Given the description of an element on the screen output the (x, y) to click on. 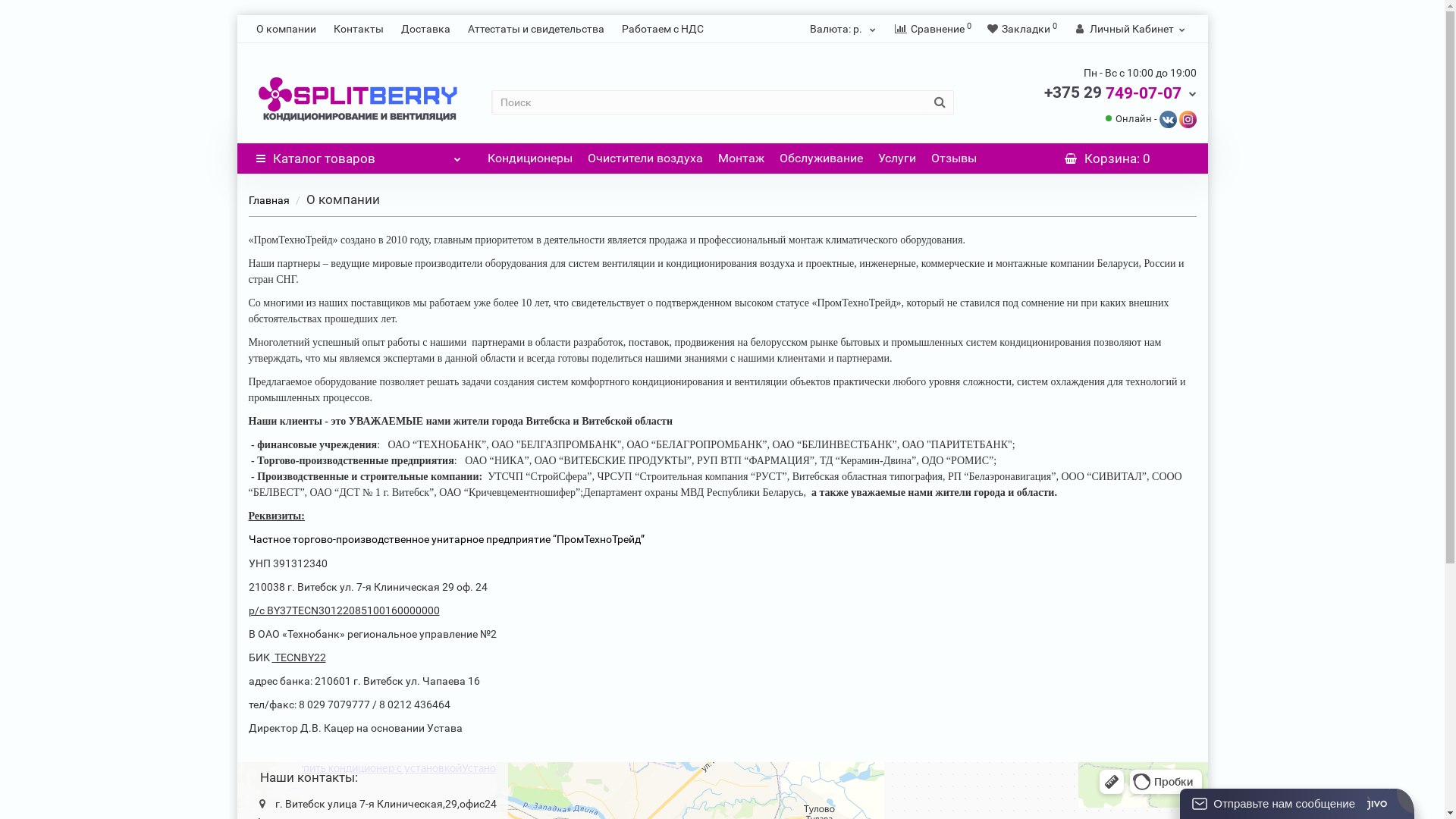
+375 29 749-07-07 Element type: text (1119, 92)
